Given the description of an element on the screen output the (x, y) to click on. 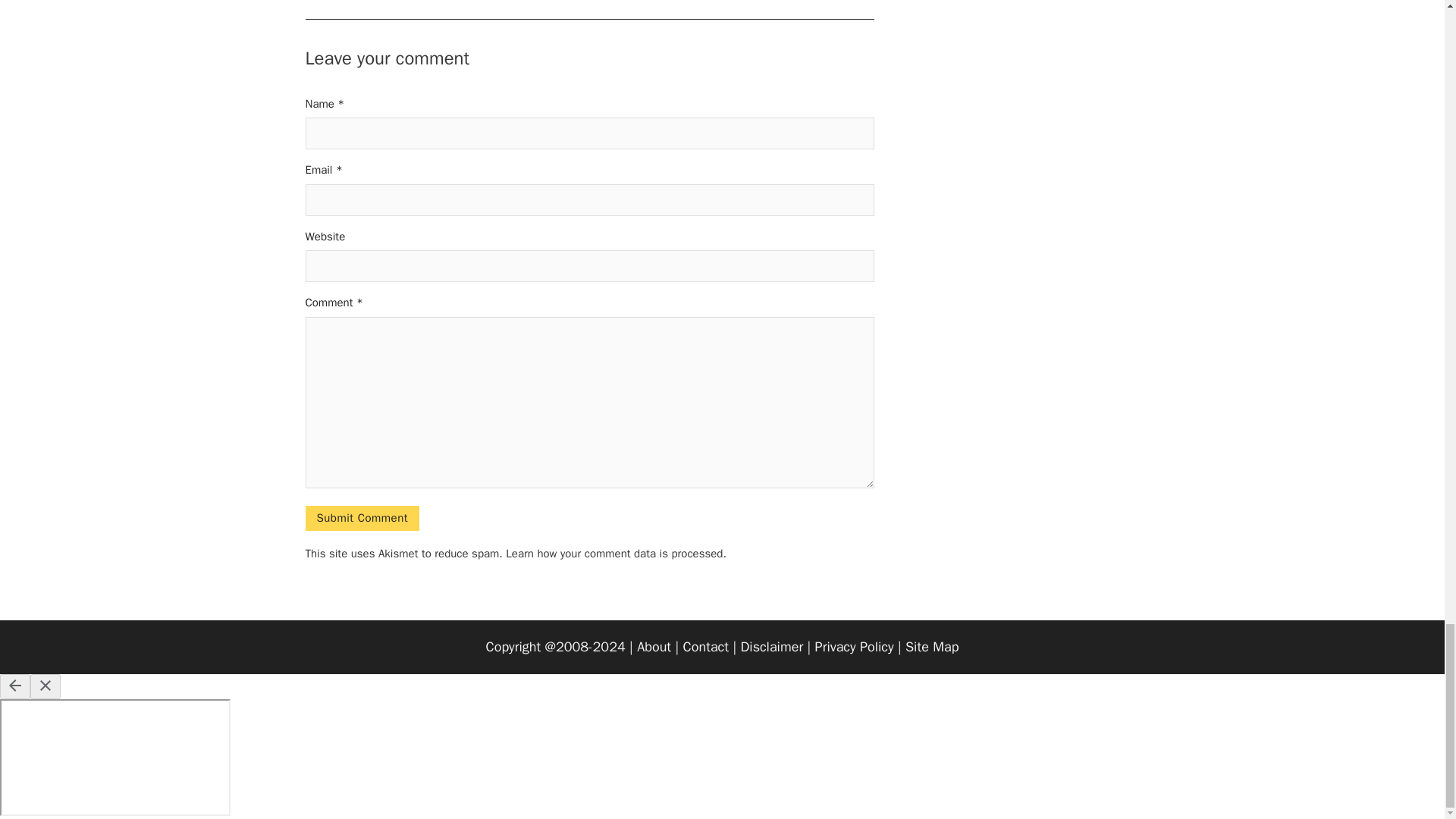
Submit Comment (361, 517)
Submit Comment (361, 517)
Learn how your comment data is processed (613, 553)
